Given the description of an element on the screen output the (x, y) to click on. 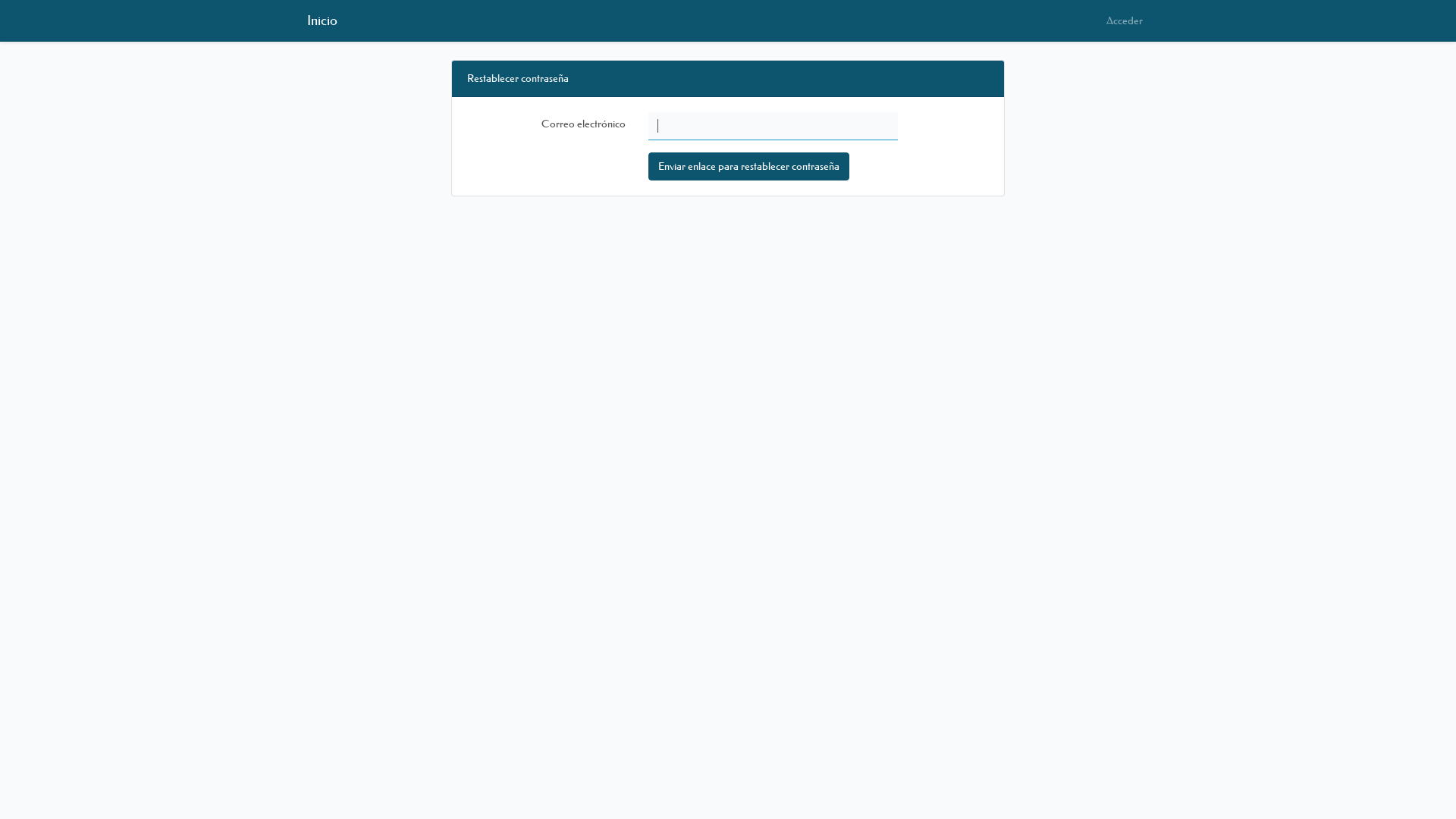
Inicio Element type: text (322, 20)
Acceder Element type: text (1124, 20)
